Given the description of an element on the screen output the (x, y) to click on. 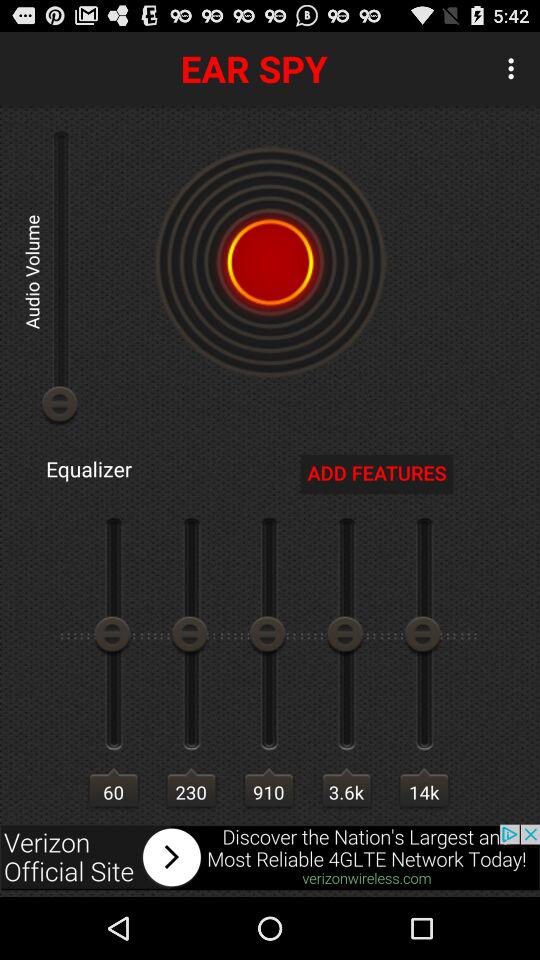
turn on ear spy (269, 262)
